Given the description of an element on the screen output the (x, y) to click on. 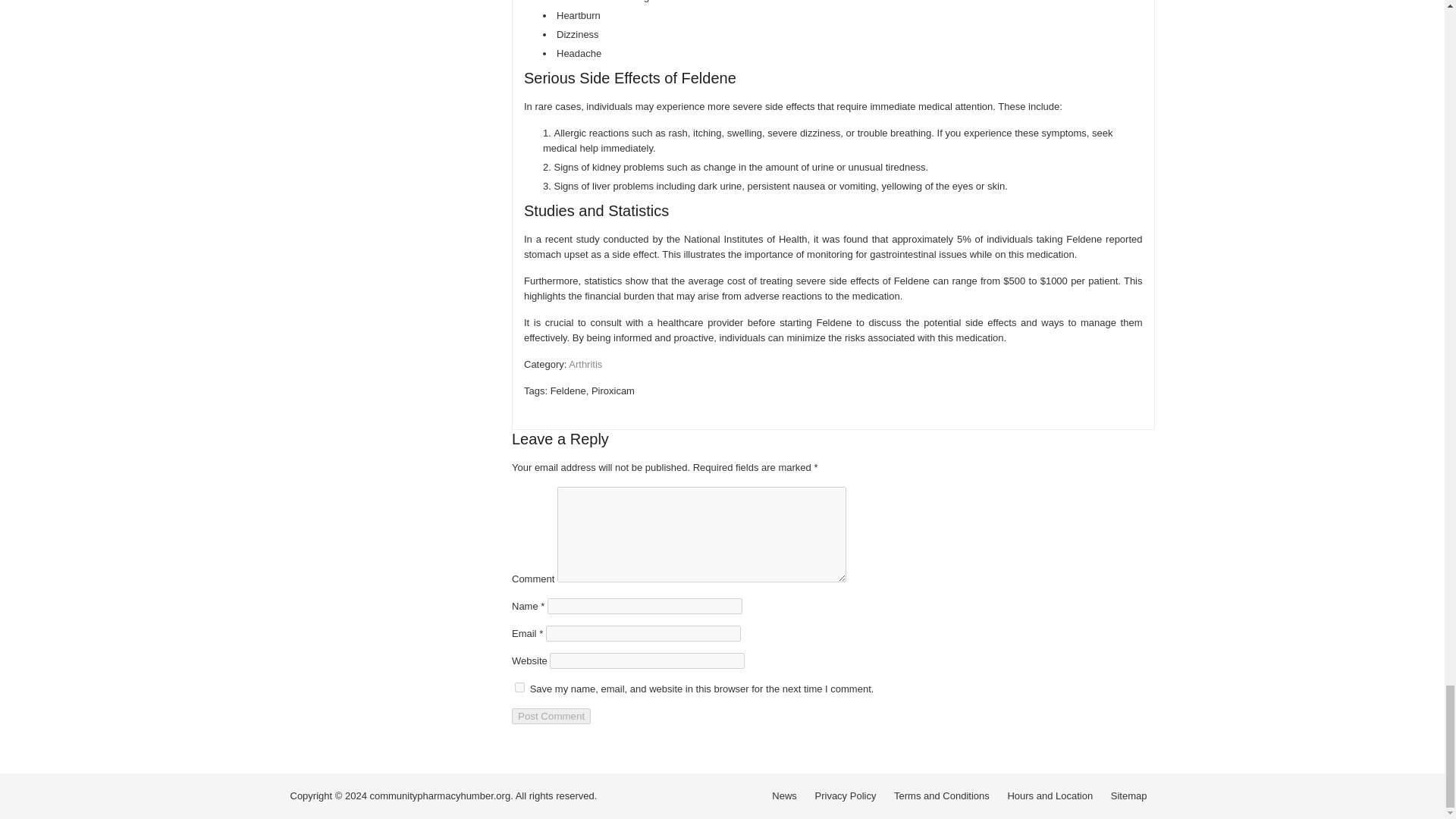
Arthritis (585, 364)
yes (519, 687)
Post Comment (551, 715)
Post Comment (551, 715)
